Given the description of an element on the screen output the (x, y) to click on. 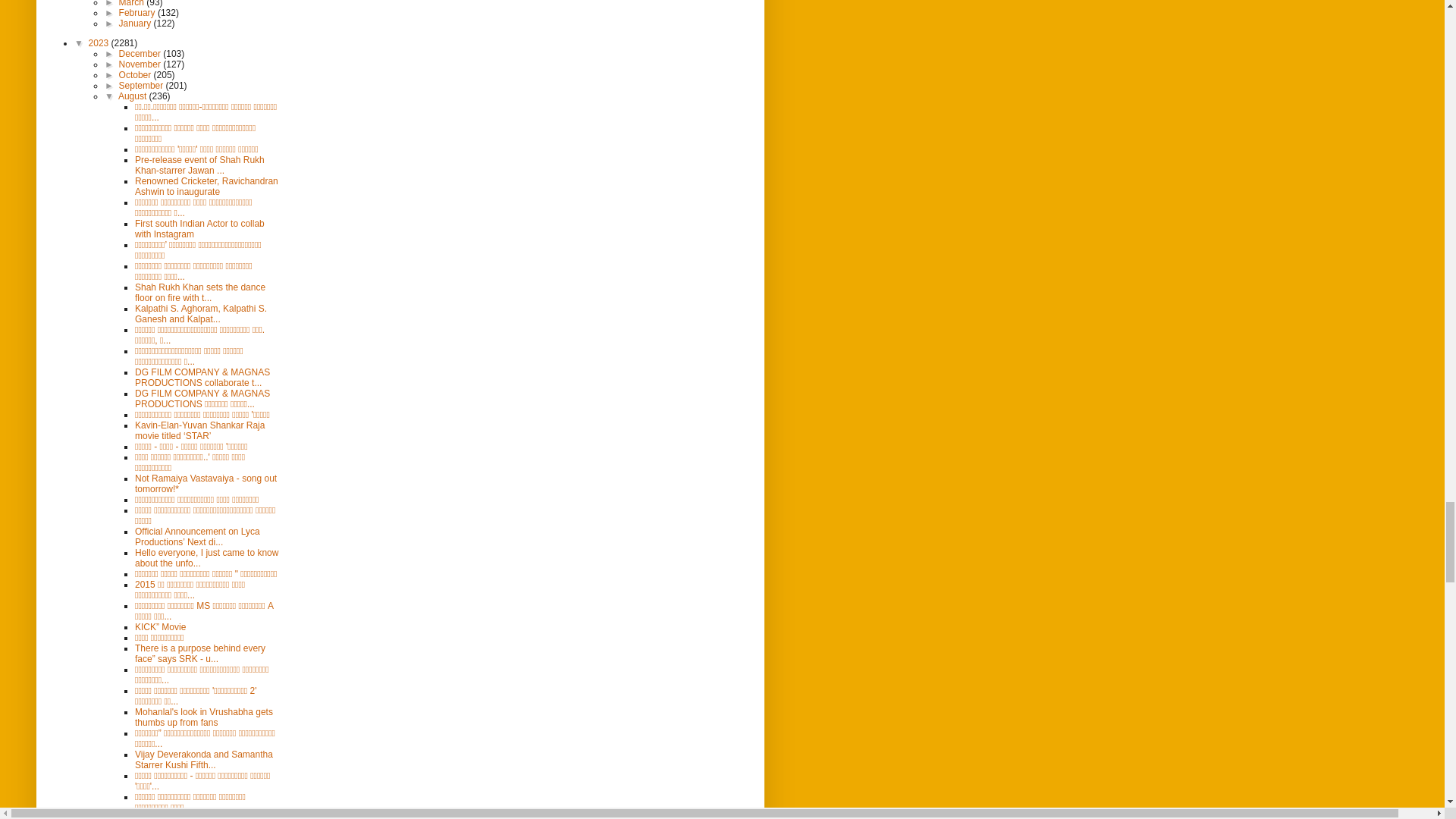
March (133, 3)
